Given the description of an element on the screen output the (x, y) to click on. 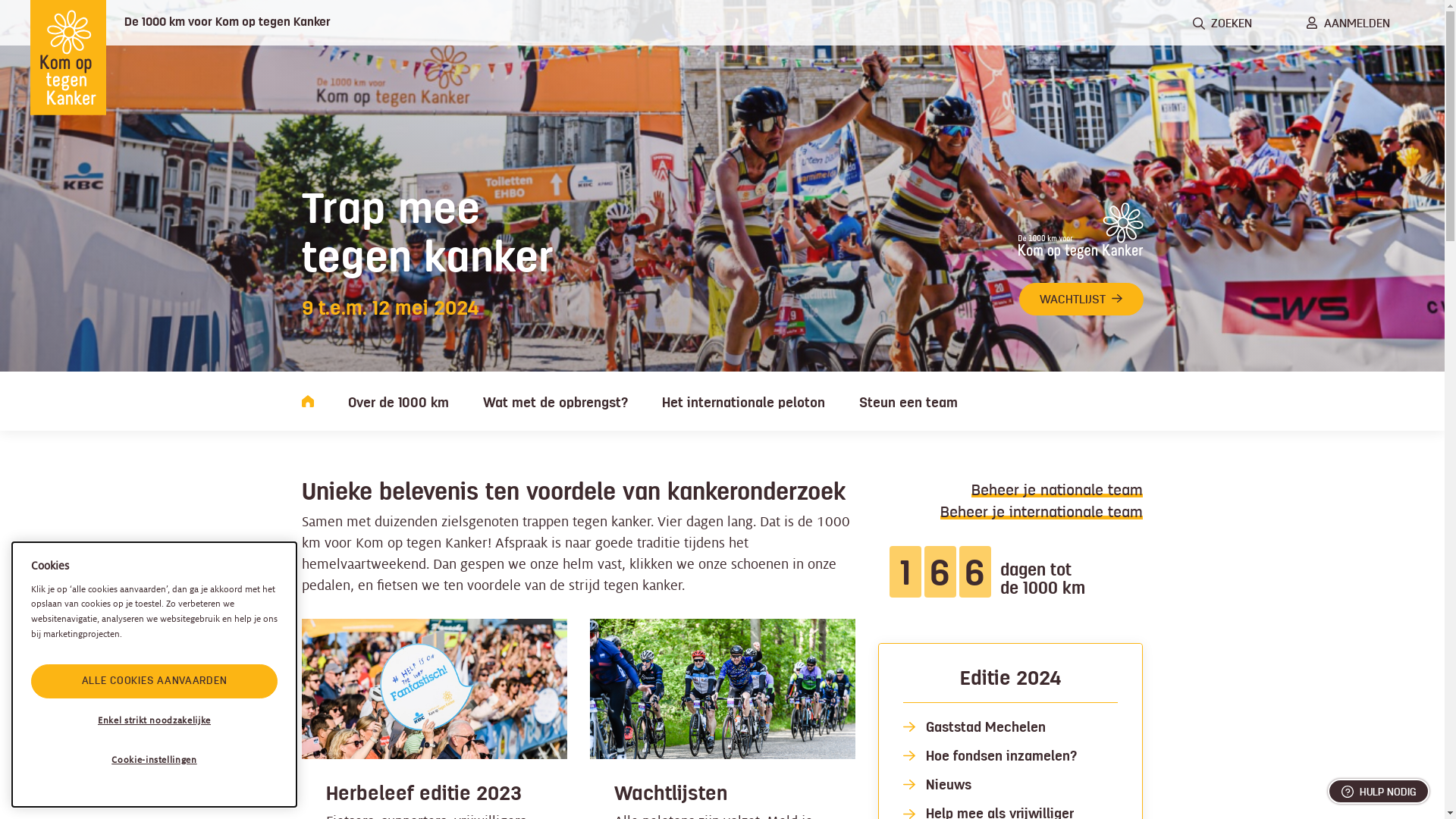
Over de 1000 km Element type: text (397, 400)
Hoe fondsen inzamelen? Element type: text (1000, 755)
Enkel strikt noodzakelijke Element type: text (154, 721)
Steun een team Element type: text (907, 400)
HULP NODIG Element type: text (1378, 790)
WACHTLIJST Element type: text (1081, 298)
Cookie-instellingen Element type: text (154, 760)
De 1000 km Element type: text (307, 400)
ALLE COOKIES AANVAARDEN Element type: text (154, 680)
Nieuws Element type: text (947, 784)
Het internationale peloton Element type: text (742, 400)
Gaststad Mechelen Element type: text (984, 727)
Beheer je internationale team Element type: text (1041, 511)
AANMELDEN Element type: text (1348, 22)
Wat met de opbrengst? Element type: text (554, 400)
Beheer je nationale team Element type: text (1056, 489)
ZOEKEN Element type: text (1221, 22)
Overslaan en naar de inhoud gaan Element type: text (0, 0)
